Given the description of an element on the screen output the (x, y) to click on. 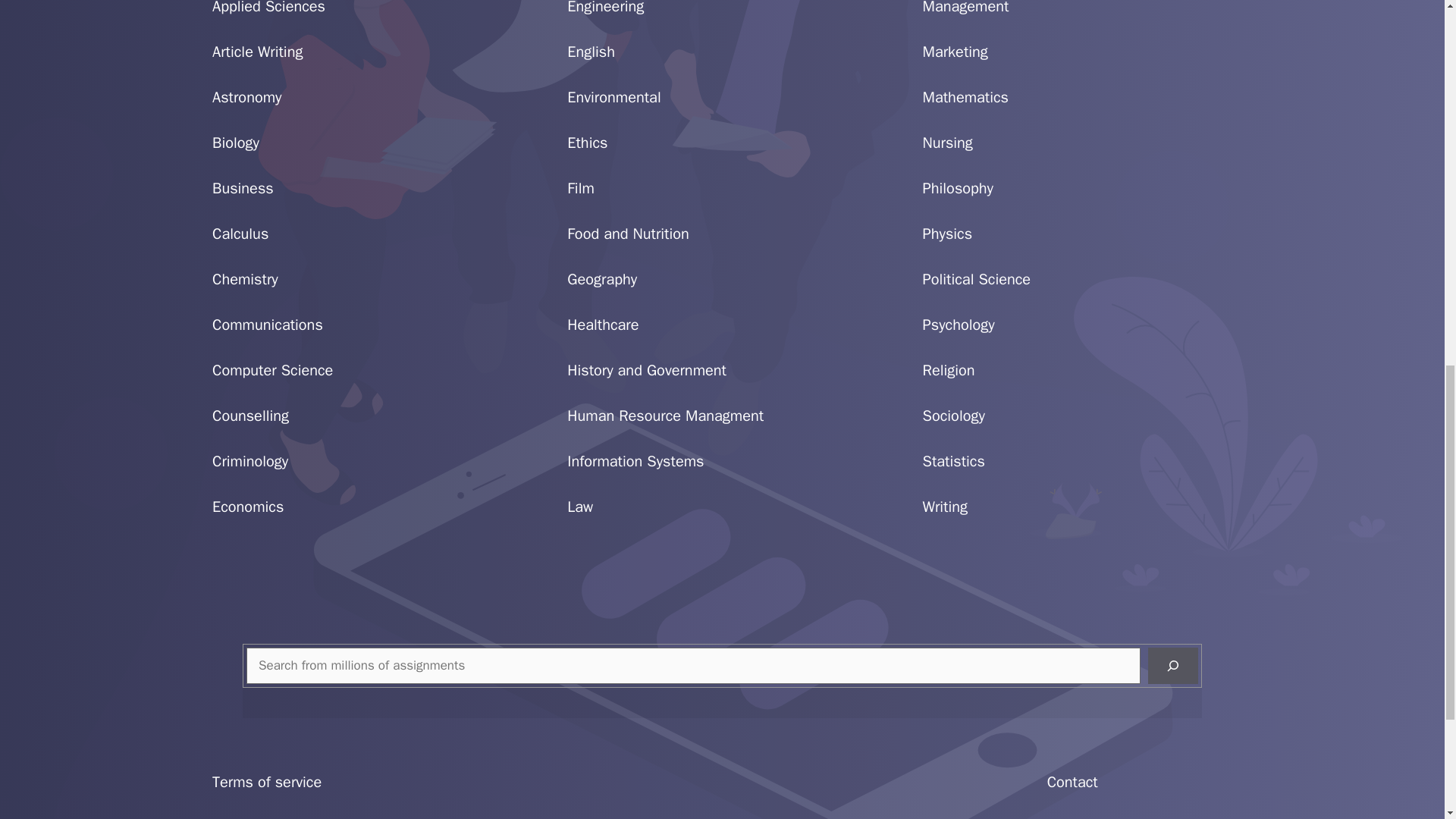
Environmental (614, 97)
Food and Nutrition (627, 233)
Applied Sciences (268, 7)
Astronomy (246, 97)
Counselling (250, 415)
Marketing (955, 51)
Economics (247, 506)
Computer Science (272, 370)
Business (242, 188)
Nursing (947, 142)
Calculus (239, 233)
Article Writing (257, 51)
Communications (267, 324)
Film (580, 188)
Engineering (605, 7)
